Given the description of an element on the screen output the (x, y) to click on. 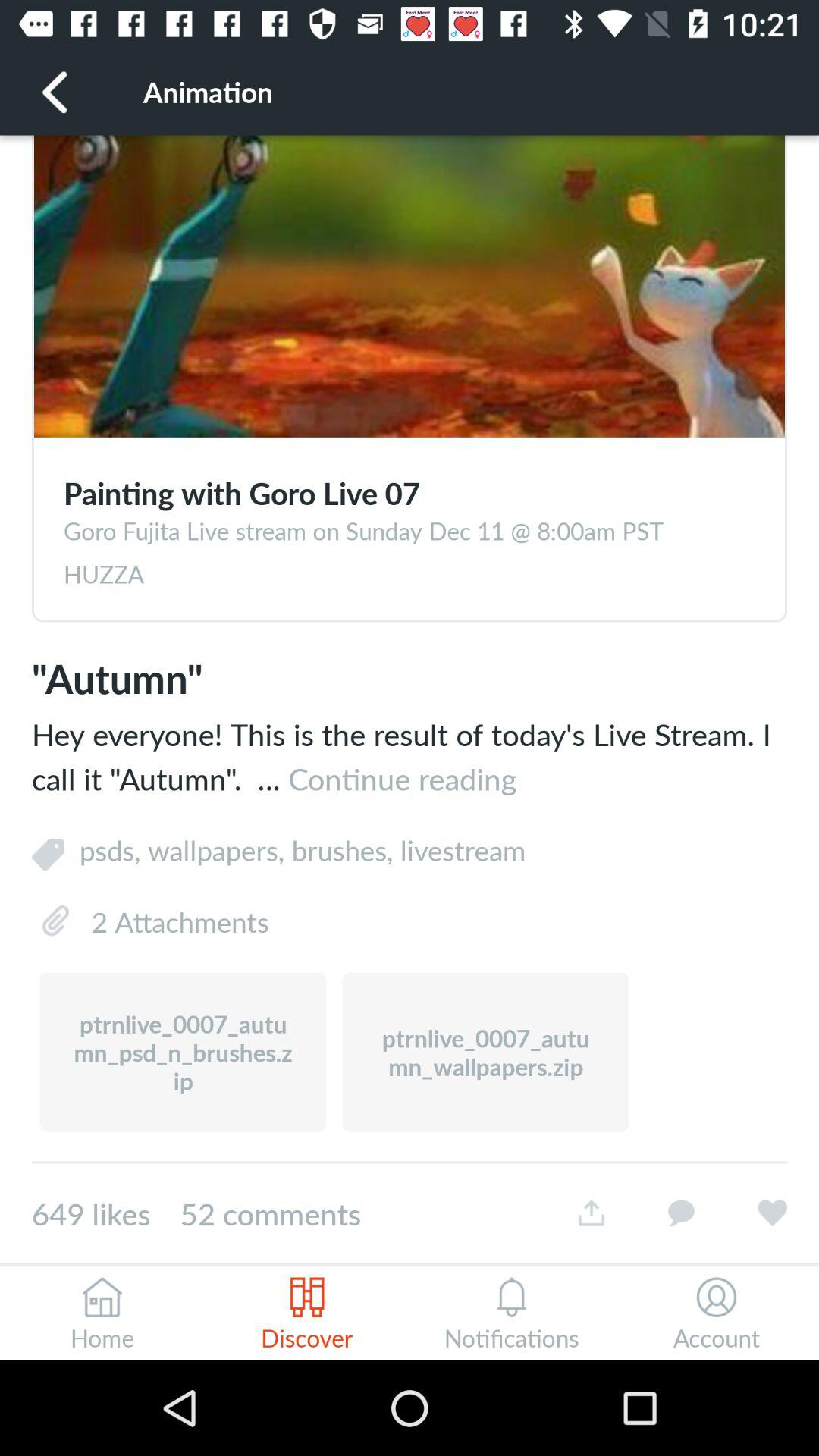
click icon next to animation (55, 91)
